Given the description of an element on the screen output the (x, y) to click on. 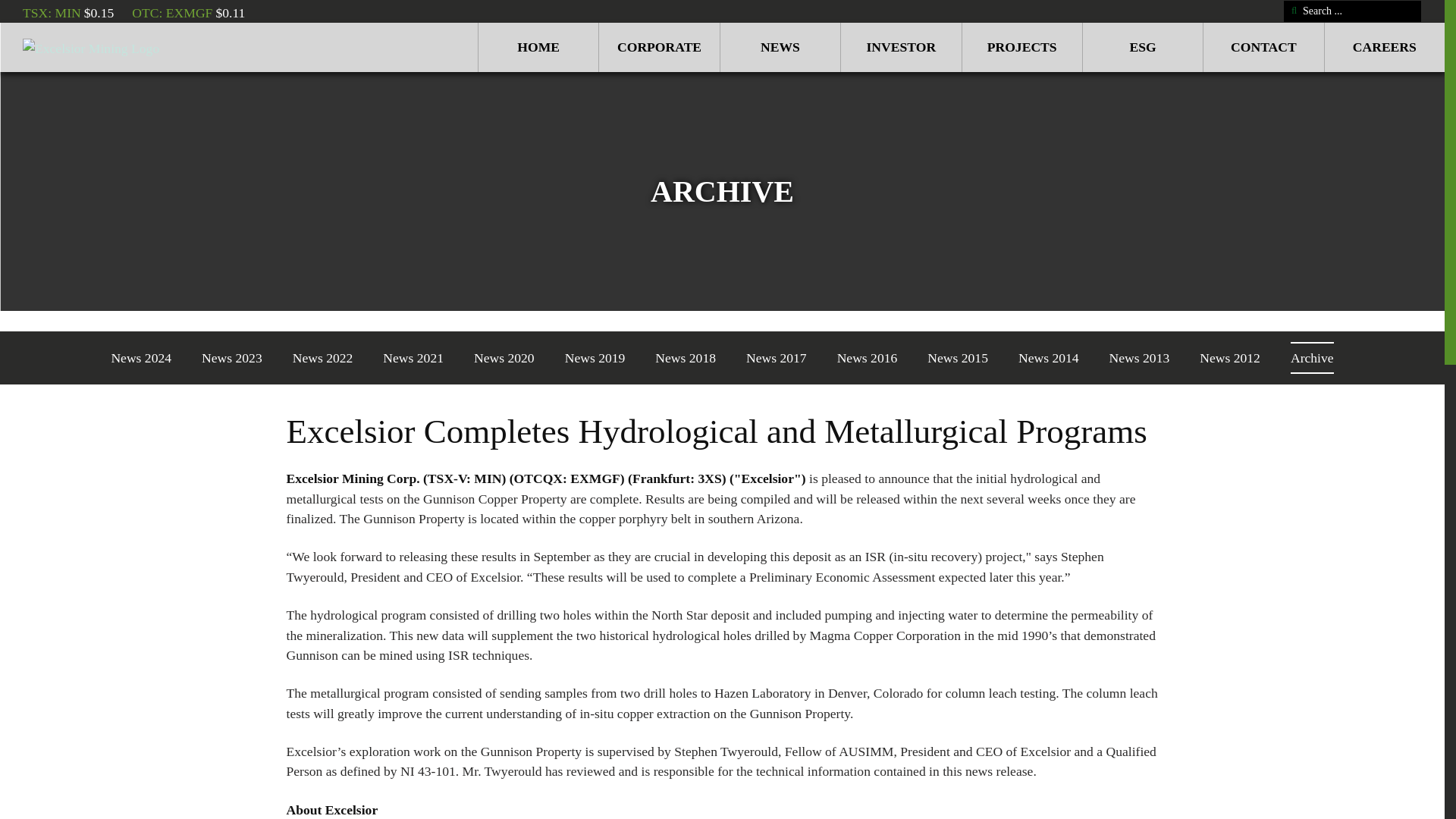
Excelsior Mining Logo (103, 47)
